Given the description of an element on the screen output the (x, y) to click on. 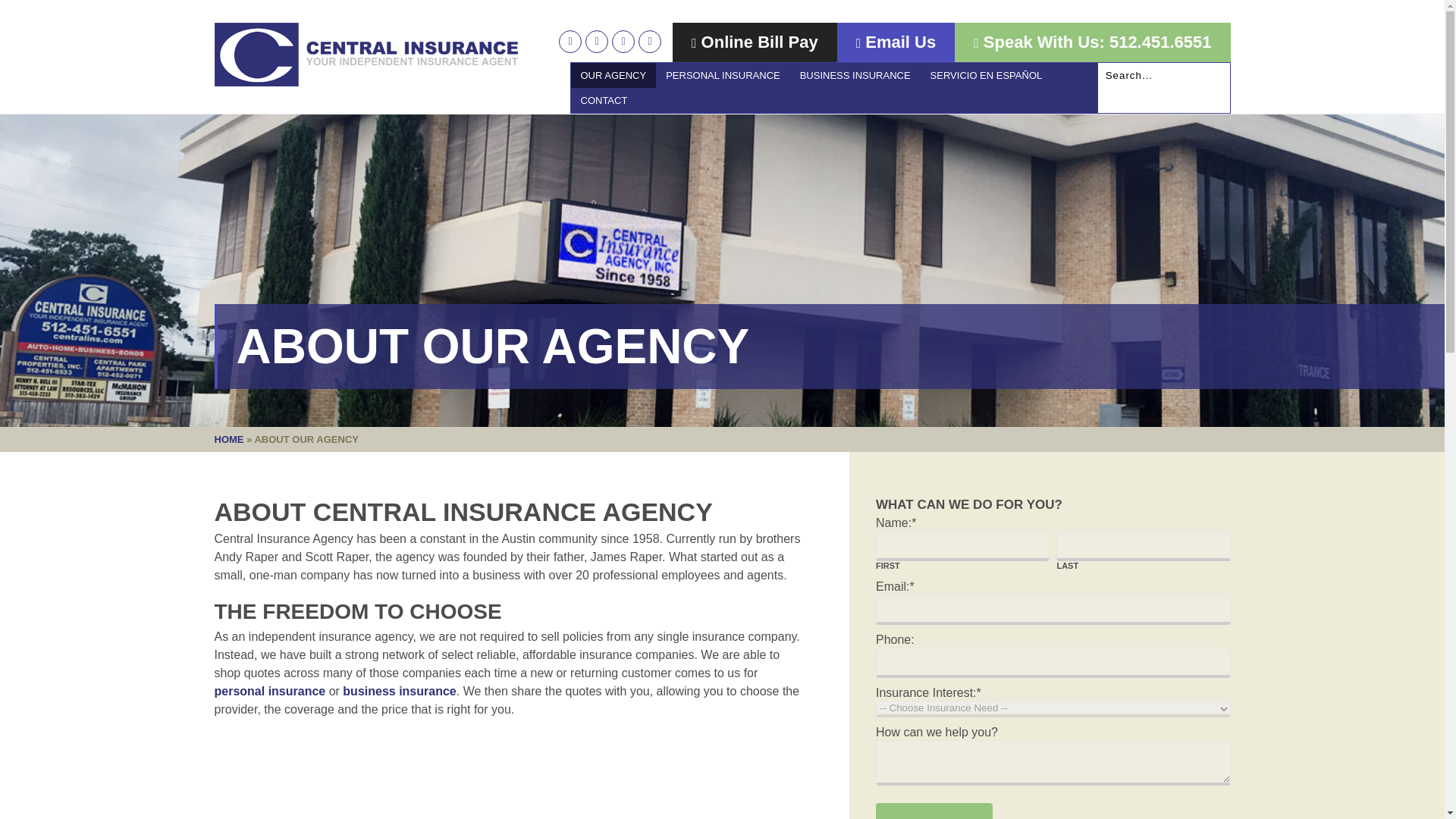
Twitter (569, 41)
Google Plus (622, 41)
personal insurance (269, 690)
PERSONAL INSURANCE (723, 75)
Email Us (896, 42)
LinkedIn (650, 41)
Search for: (1163, 74)
Online Bill Pay (754, 42)
HOME (228, 439)
Get Started (934, 811)
